Given the description of an element on the screen output the (x, y) to click on. 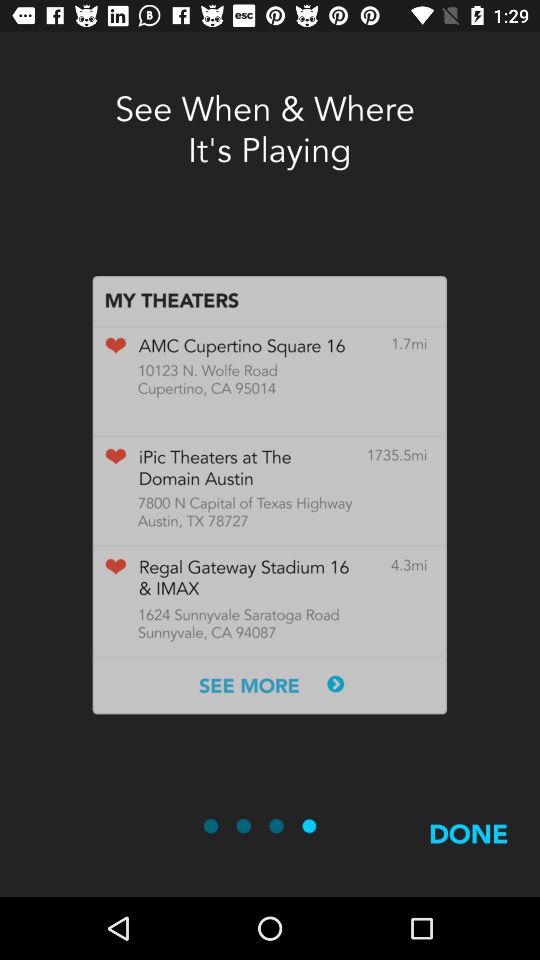
playing list (269, 495)
